Given the description of an element on the screen output the (x, y) to click on. 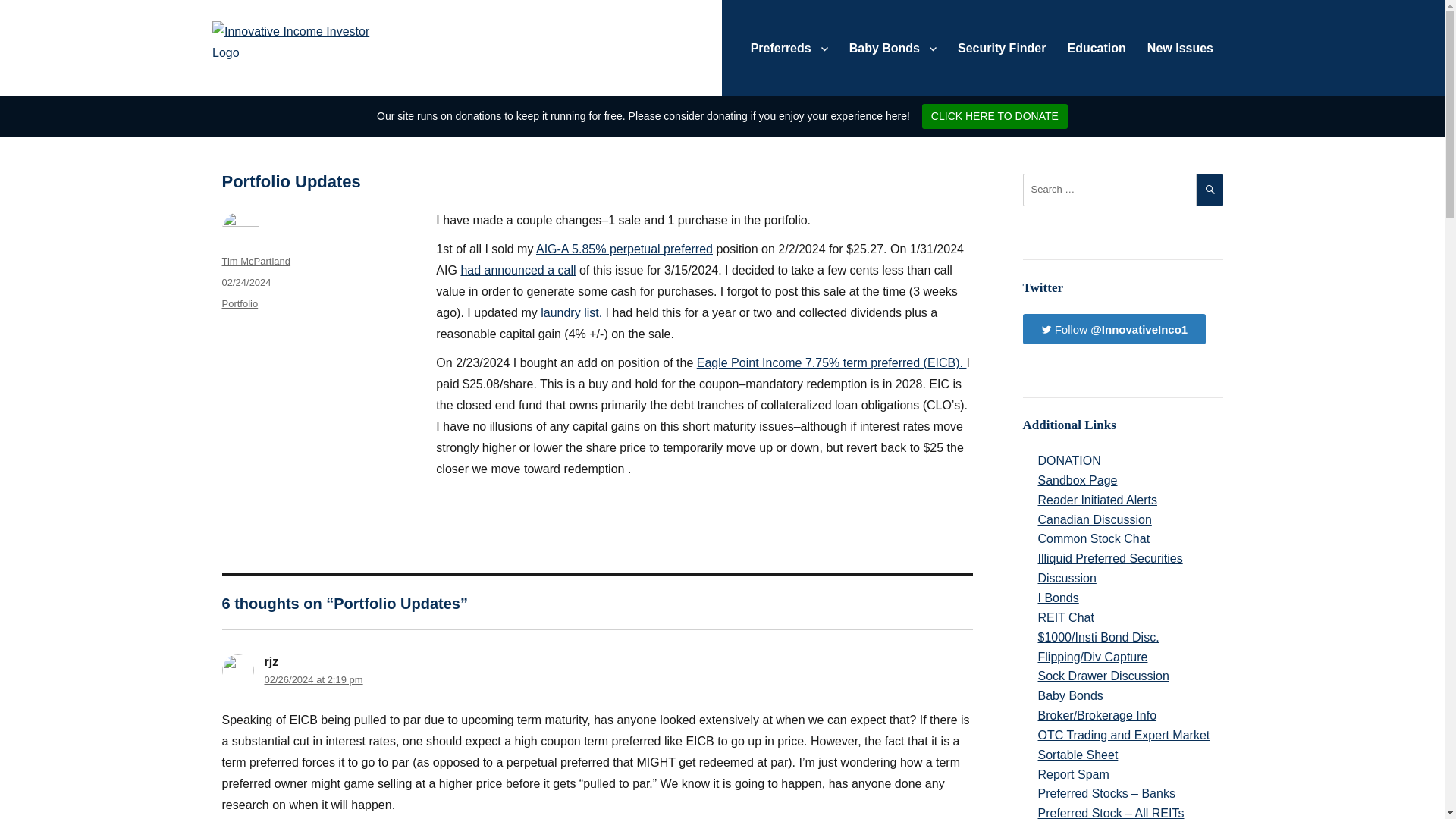
had announced a call (517, 269)
Portfolio (239, 303)
Security Finder (1002, 47)
had announced a call (517, 269)
Education (1097, 47)
CLICK HERE TO DONATE (994, 116)
New Issues (1180, 47)
Tim McPartland (255, 260)
had announced a call (571, 312)
laundry list. (571, 312)
